Given the description of an element on the screen output the (x, y) to click on. 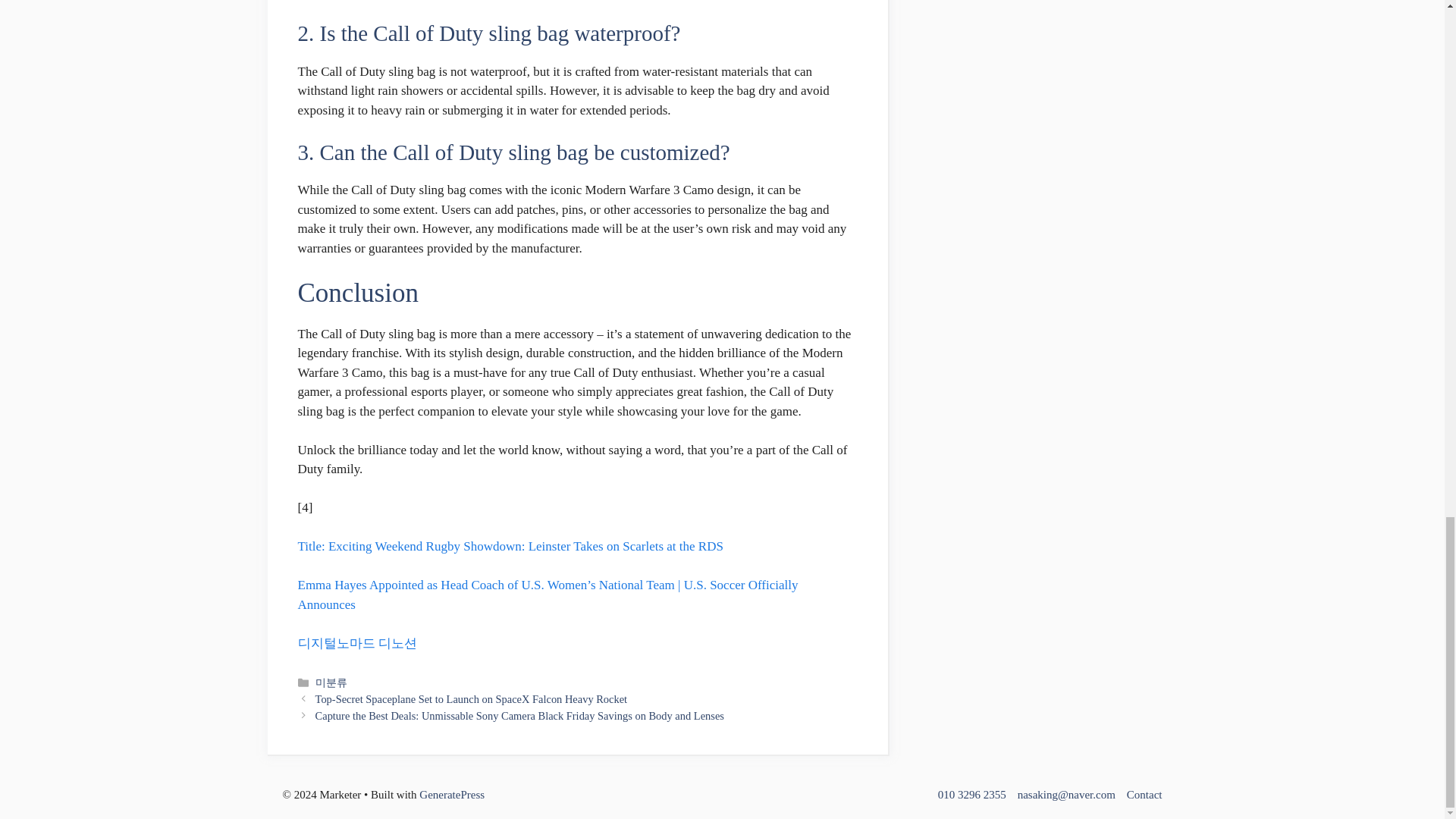
Contact (1143, 794)
010 3296 2355 (971, 794)
GeneratePress (451, 794)
